Given the description of an element on the screen output the (x, y) to click on. 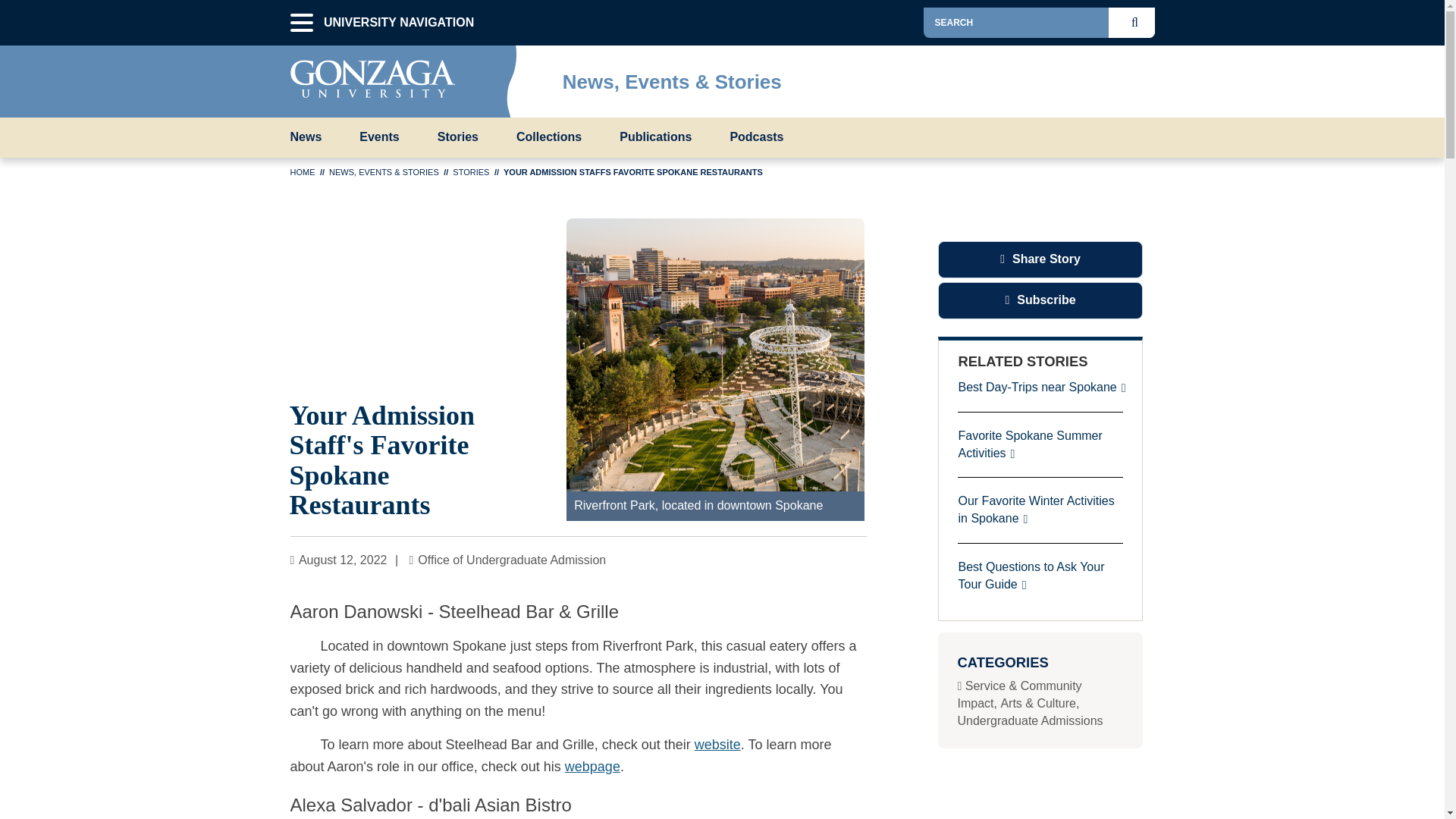
SEARCH BUTTON (1137, 22)
UNIVERSITY NAVIGATION (301, 22)
Toggle Menu (1142, 77)
